Given the description of an element on the screen output the (x, y) to click on. 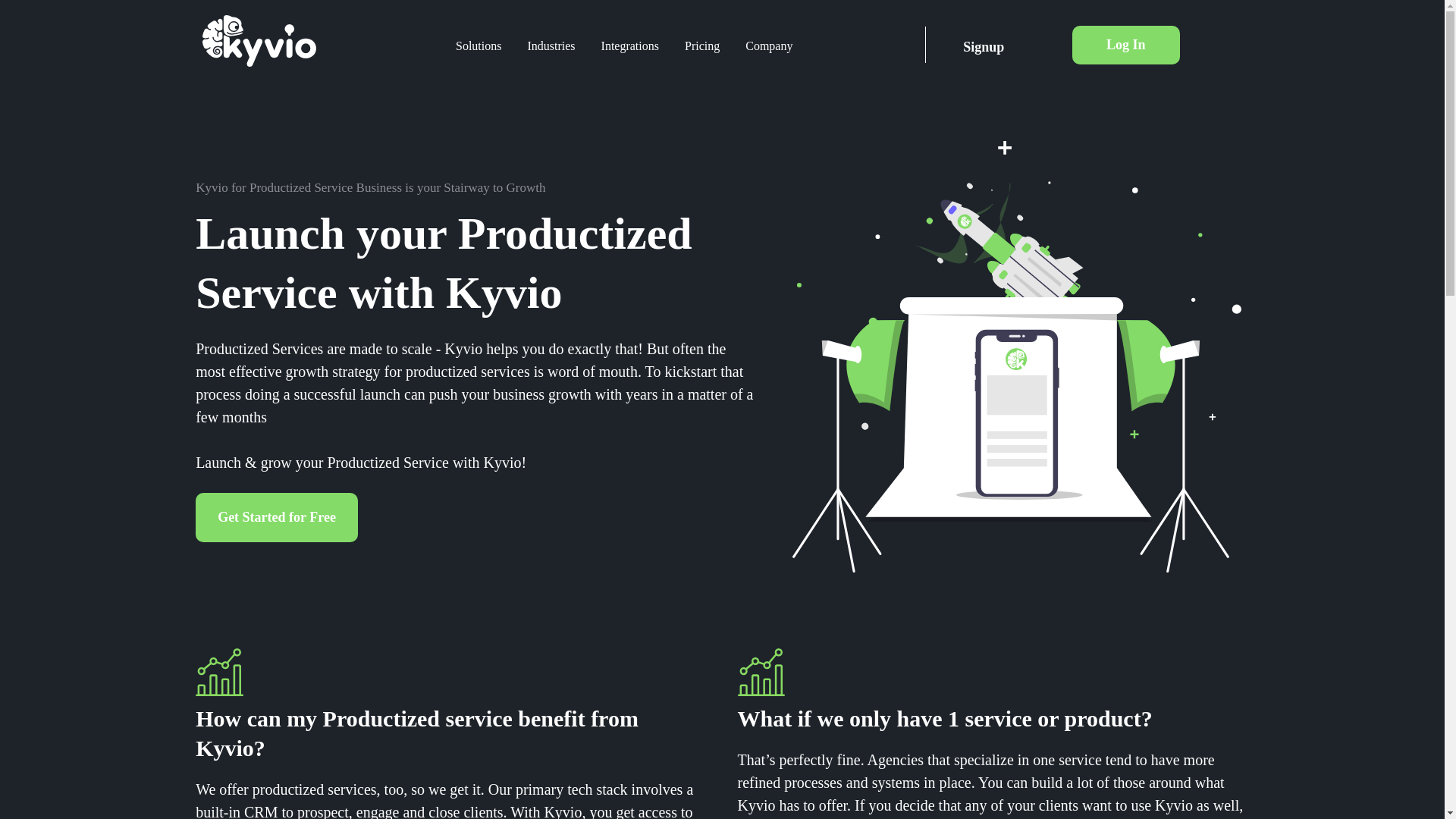
Solutions (477, 46)
Log In (1125, 44)
Company (768, 46)
Integrations (629, 46)
Pricing (701, 46)
Industries (550, 46)
Signup (983, 44)
